Given the description of an element on the screen output the (x, y) to click on. 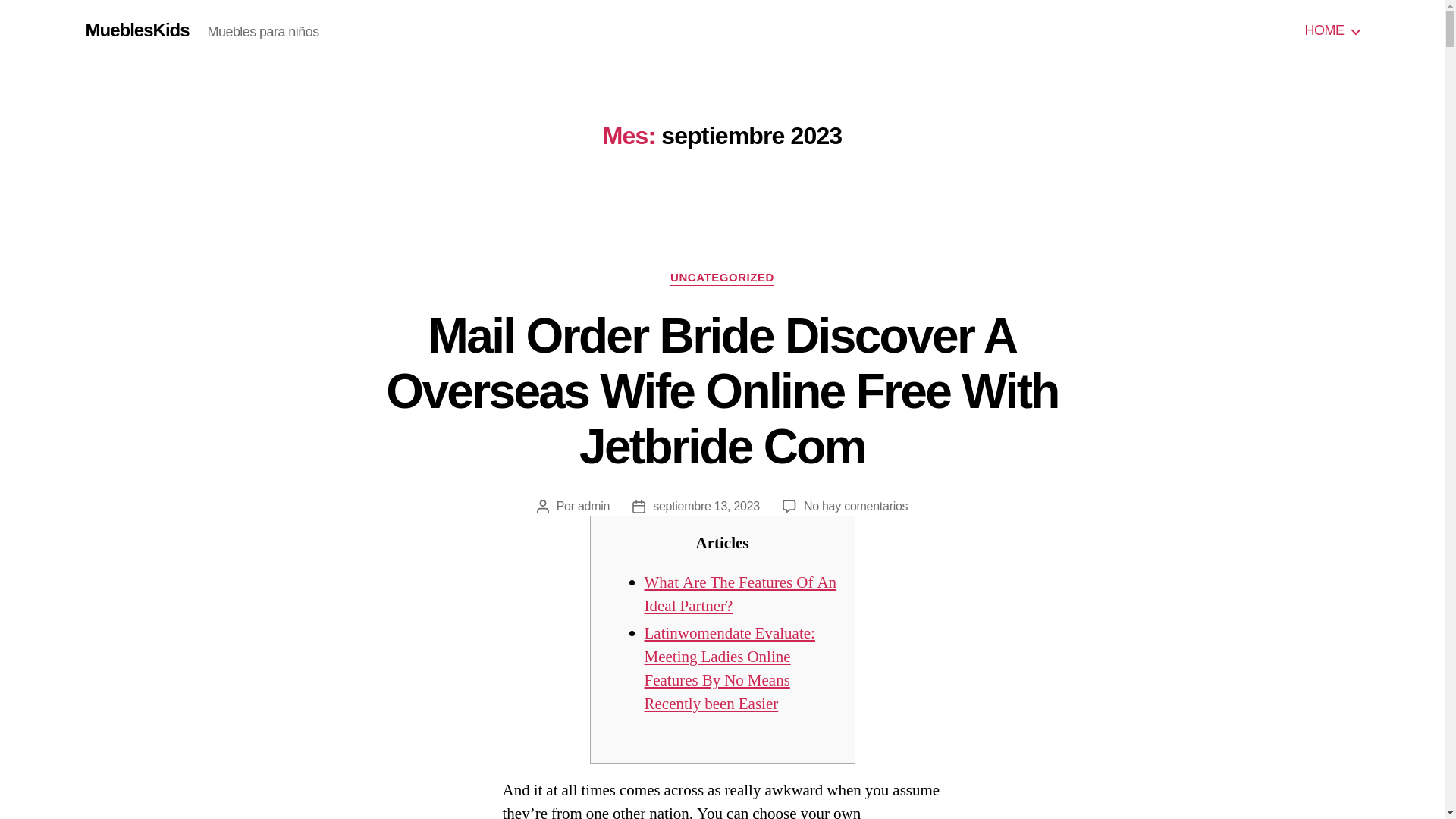
admin (594, 505)
HOME (1331, 30)
No hay comentarios (855, 505)
MueblesKids (136, 30)
UNCATEGORIZED (721, 278)
What Are The Features Of An Ideal Partner? (741, 594)
septiembre 13, 2023 (706, 505)
